Given the description of an element on the screen output the (x, y) to click on. 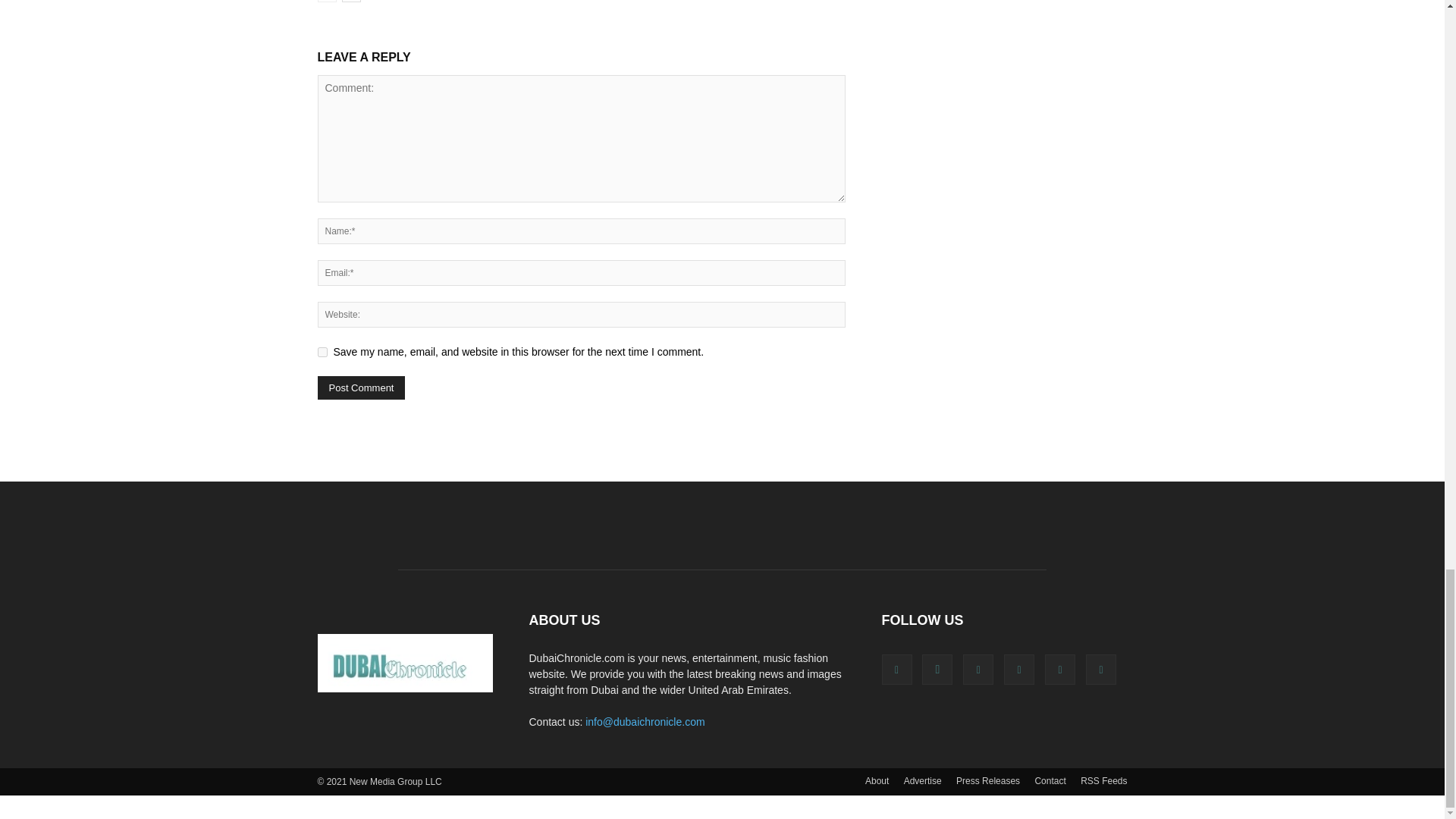
Post Comment (360, 387)
yes (321, 352)
